Given the description of an element on the screen output the (x, y) to click on. 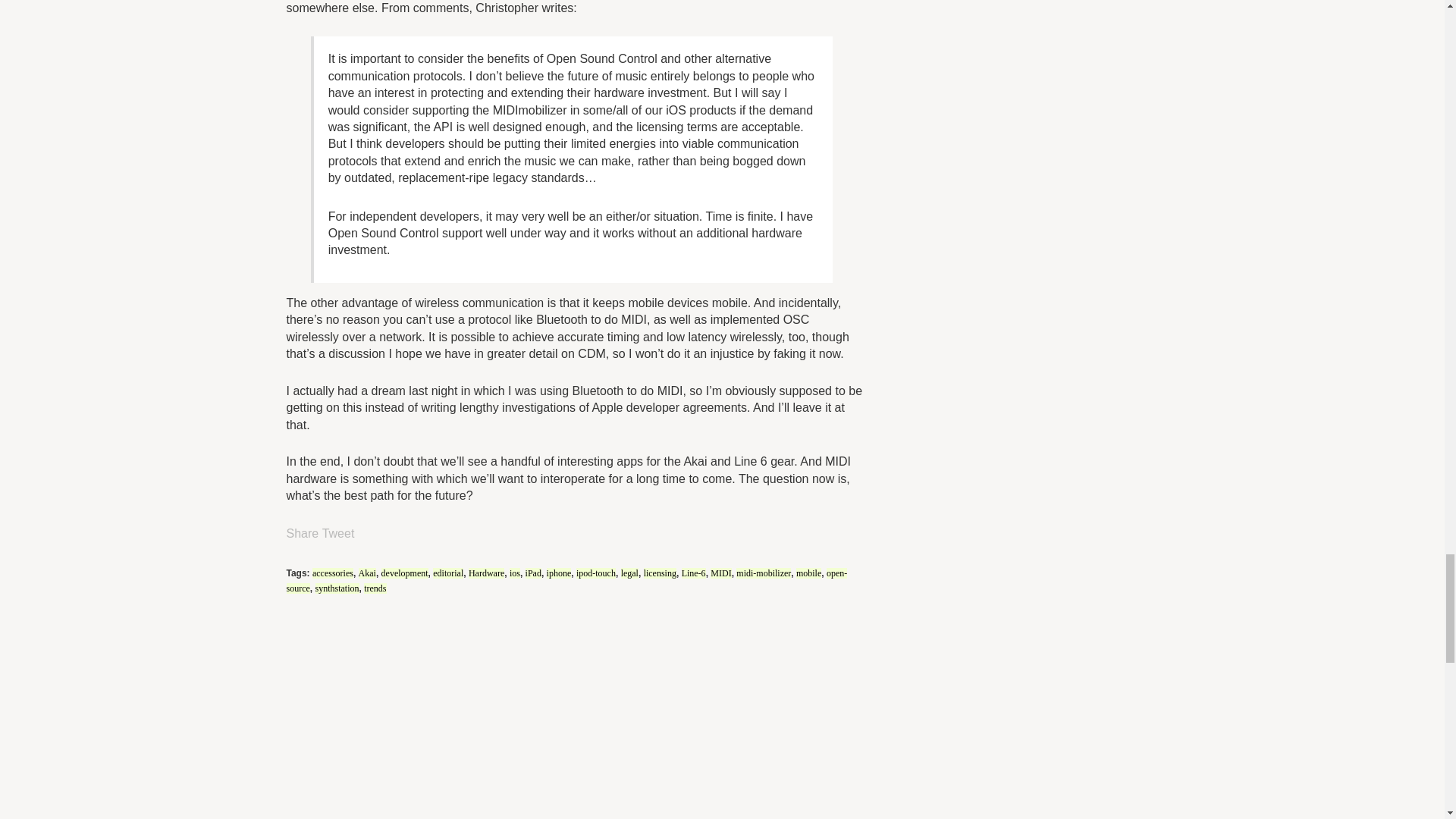
development (404, 572)
iPad (533, 572)
Akai (366, 572)
Tweet (338, 532)
Hardware (485, 572)
editorial (447, 572)
ios (514, 572)
Share (302, 532)
accessories (333, 572)
iphone (559, 572)
